Given the description of an element on the screen output the (x, y) to click on. 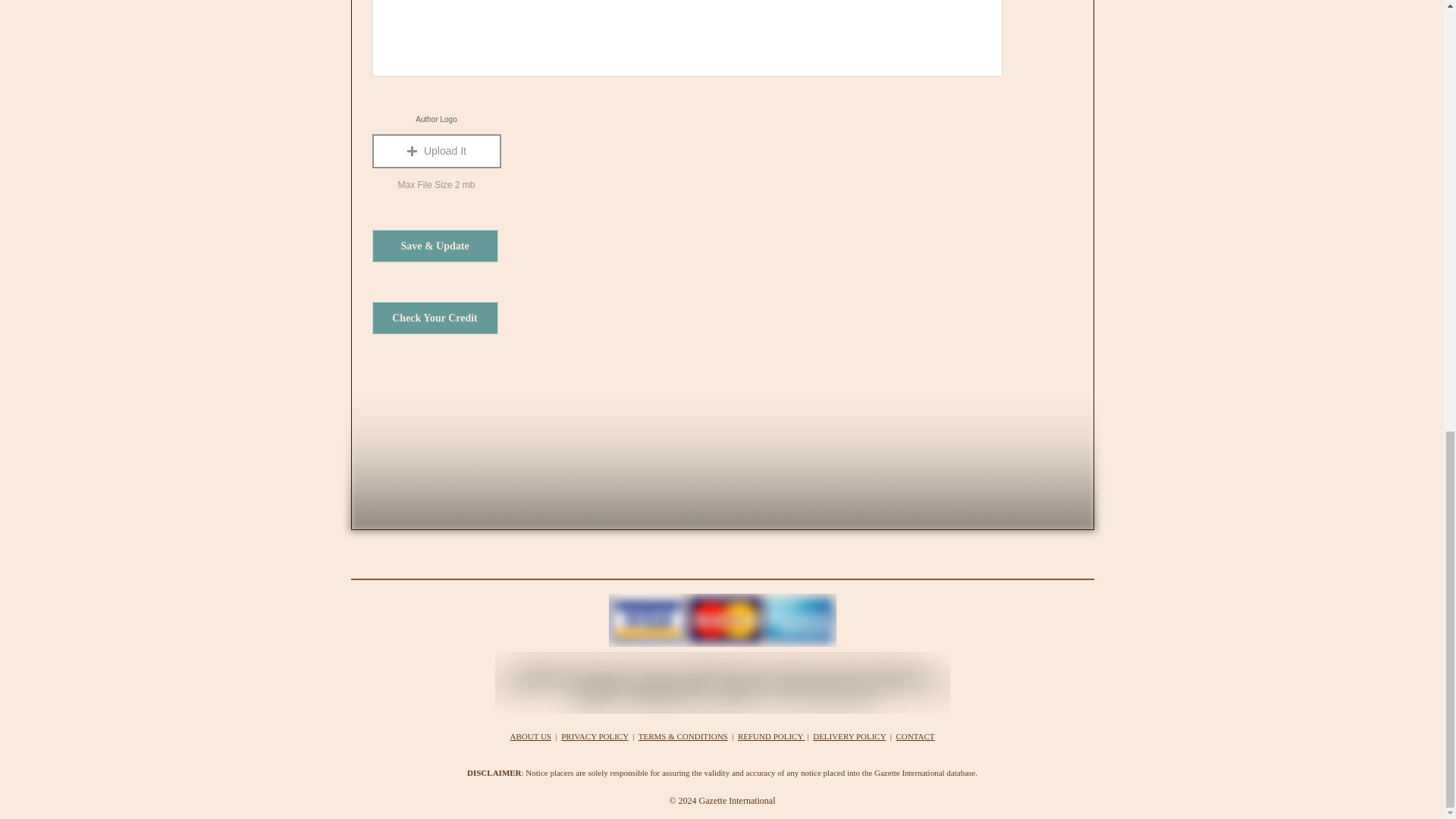
Check Your Credit (434, 318)
CONTACT (914, 736)
ABOUT US (530, 736)
Max File Size 2 mb (435, 185)
PRIVACY POLICY (594, 736)
DELIVERY POLICY (848, 736)
REFUND POLICY  (771, 736)
